Given the description of an element on the screen output the (x, y) to click on. 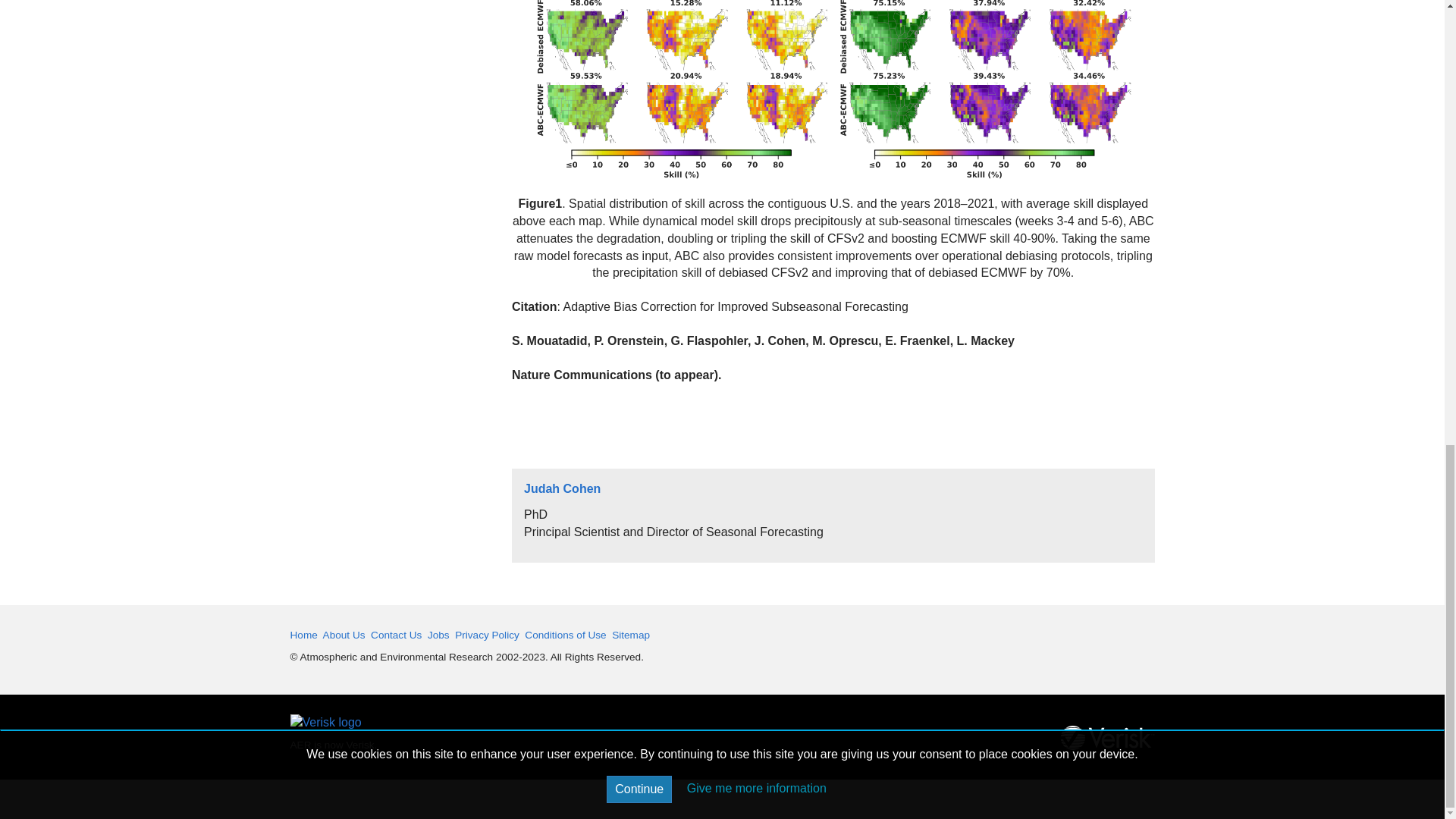
Sitemap (630, 634)
 Conditions of Use (564, 634)
Home (303, 634)
About Us (344, 634)
Contact Us (396, 634)
